Given the description of an element on the screen output the (x, y) to click on. 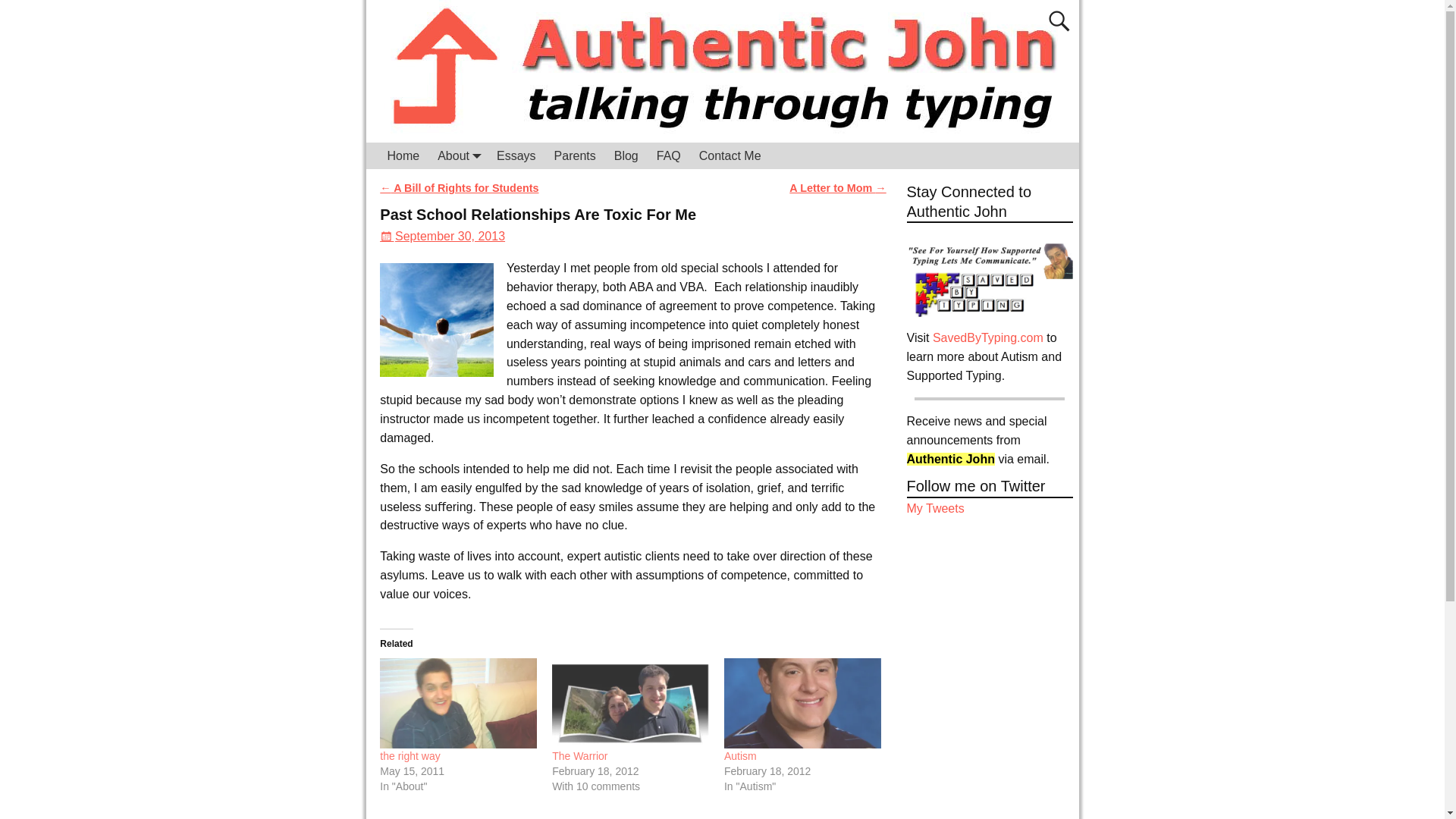
Contact Me (730, 155)
Autism (740, 756)
the right way (409, 756)
Blog (626, 155)
Essays (515, 155)
My Tweets (935, 508)
the right way (409, 756)
SavedByTyping.com (988, 337)
Parents (574, 155)
Home (402, 155)
The Warrior (630, 702)
The Warrior (579, 756)
About (457, 155)
FAQ (668, 155)
Autism (740, 756)
